Given the description of an element on the screen output the (x, y) to click on. 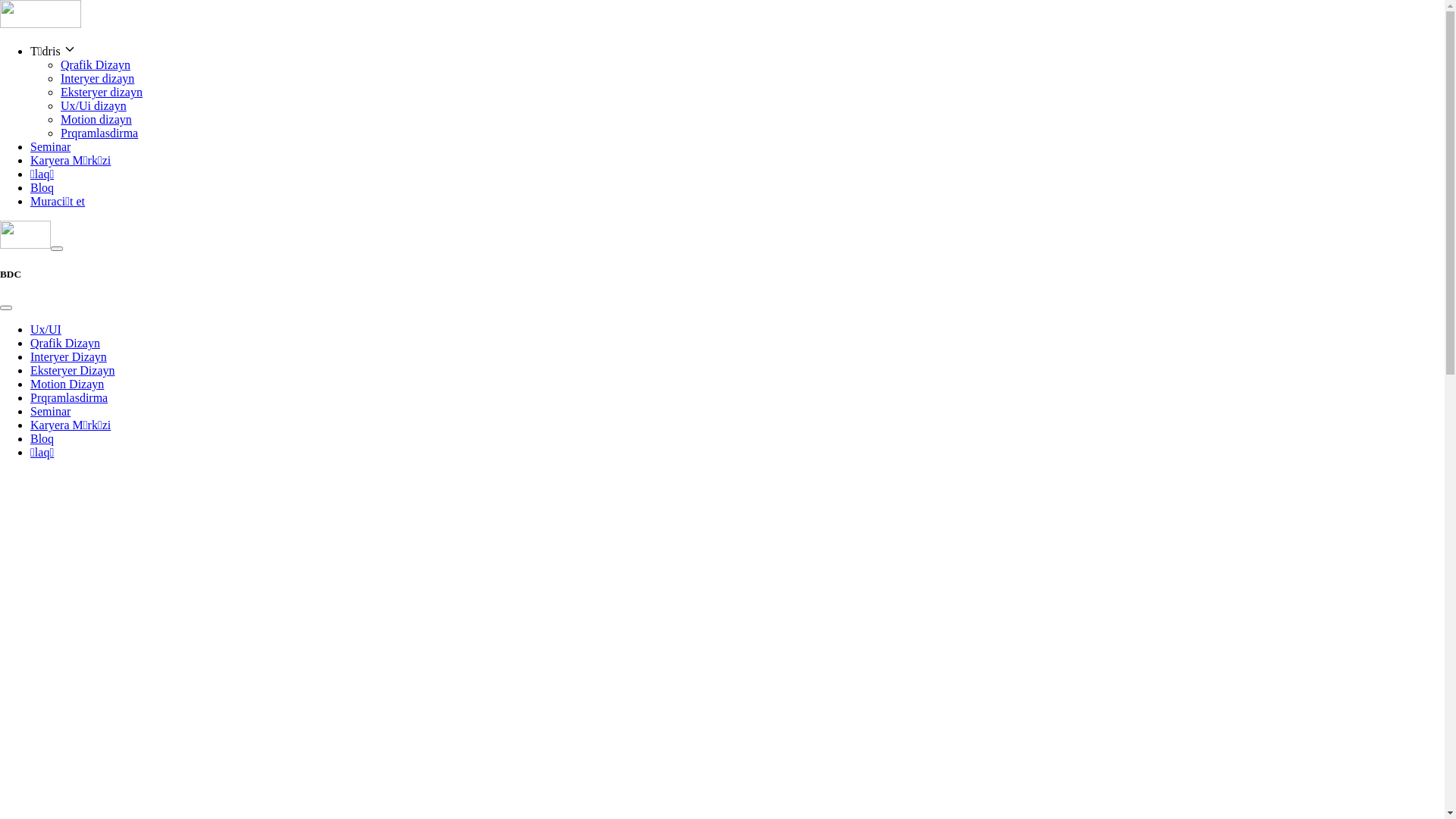
Seminar Element type: text (50, 146)
Interyer dizayn Element type: text (97, 78)
Qrafik Dizayn Element type: text (65, 342)
Eksteryer dizayn Element type: text (101, 91)
Motion dizayn Element type: text (95, 118)
Ux/UI Element type: text (45, 329)
Qrafik Dizayn Element type: text (95, 64)
Ux/Ui dizayn Element type: text (93, 105)
Prqramlasdirma Element type: text (68, 397)
Bloq Element type: text (41, 187)
Prqramlasdirma Element type: text (99, 132)
Motion Dizayn Element type: text (66, 383)
Eksteryer Dizayn Element type: text (72, 370)
Interyer Dizayn Element type: text (68, 356)
Seminar Element type: text (50, 410)
Bloq Element type: text (41, 438)
